Given the description of an element on the screen output the (x, y) to click on. 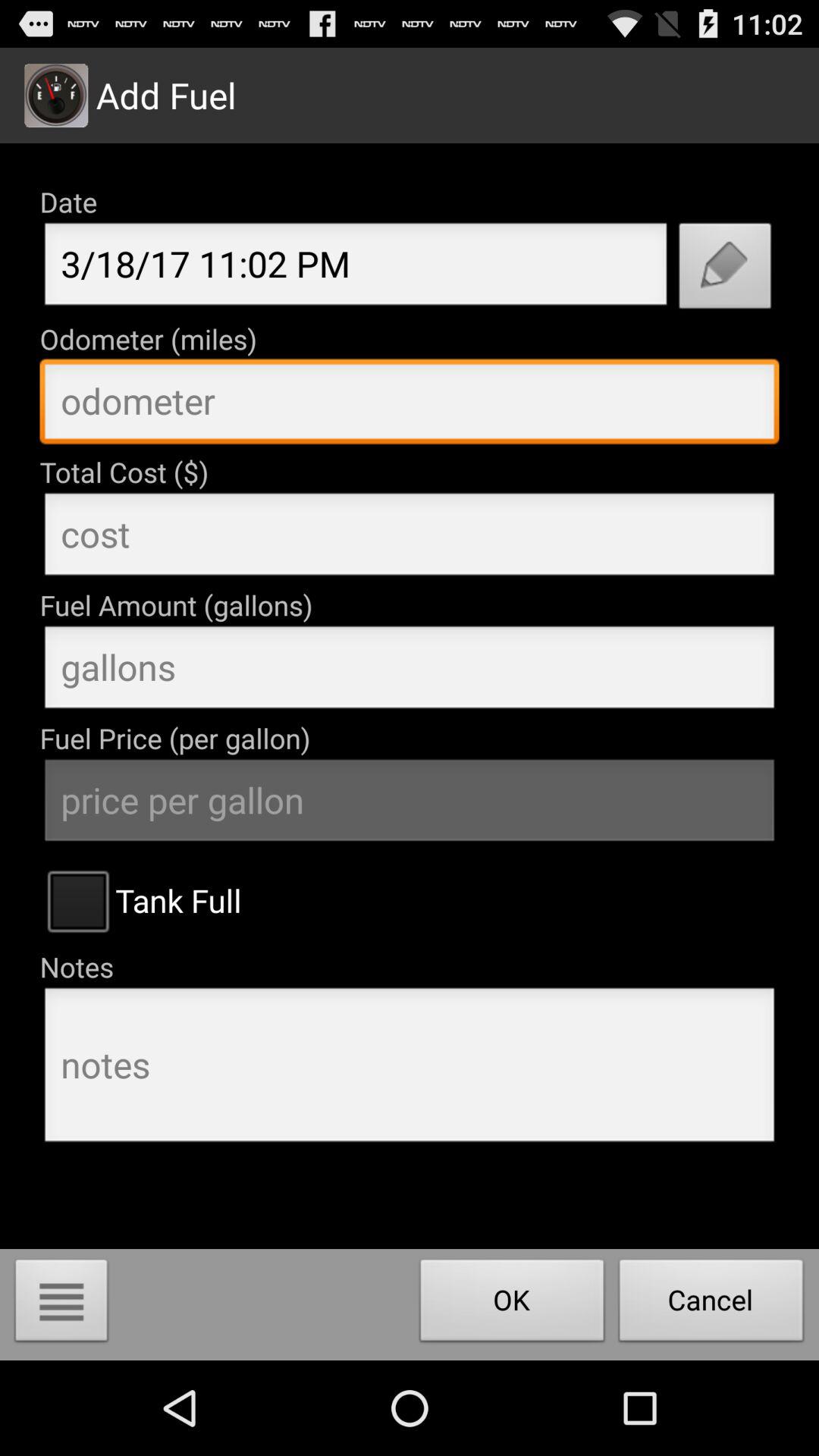
space for price (409, 538)
